Given the description of an element on the screen output the (x, y) to click on. 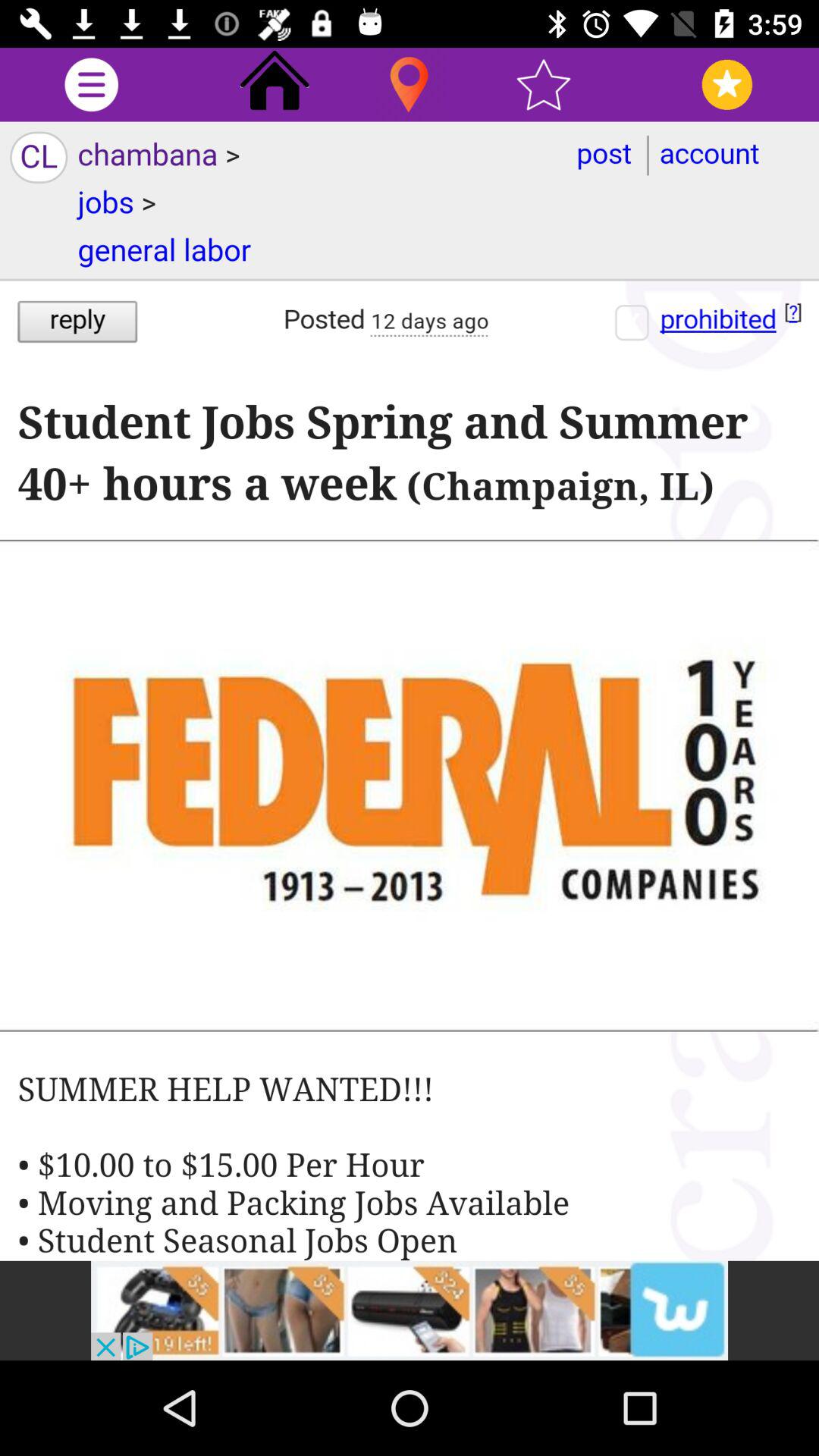
more (91, 84)
